Given the description of an element on the screen output the (x, y) to click on. 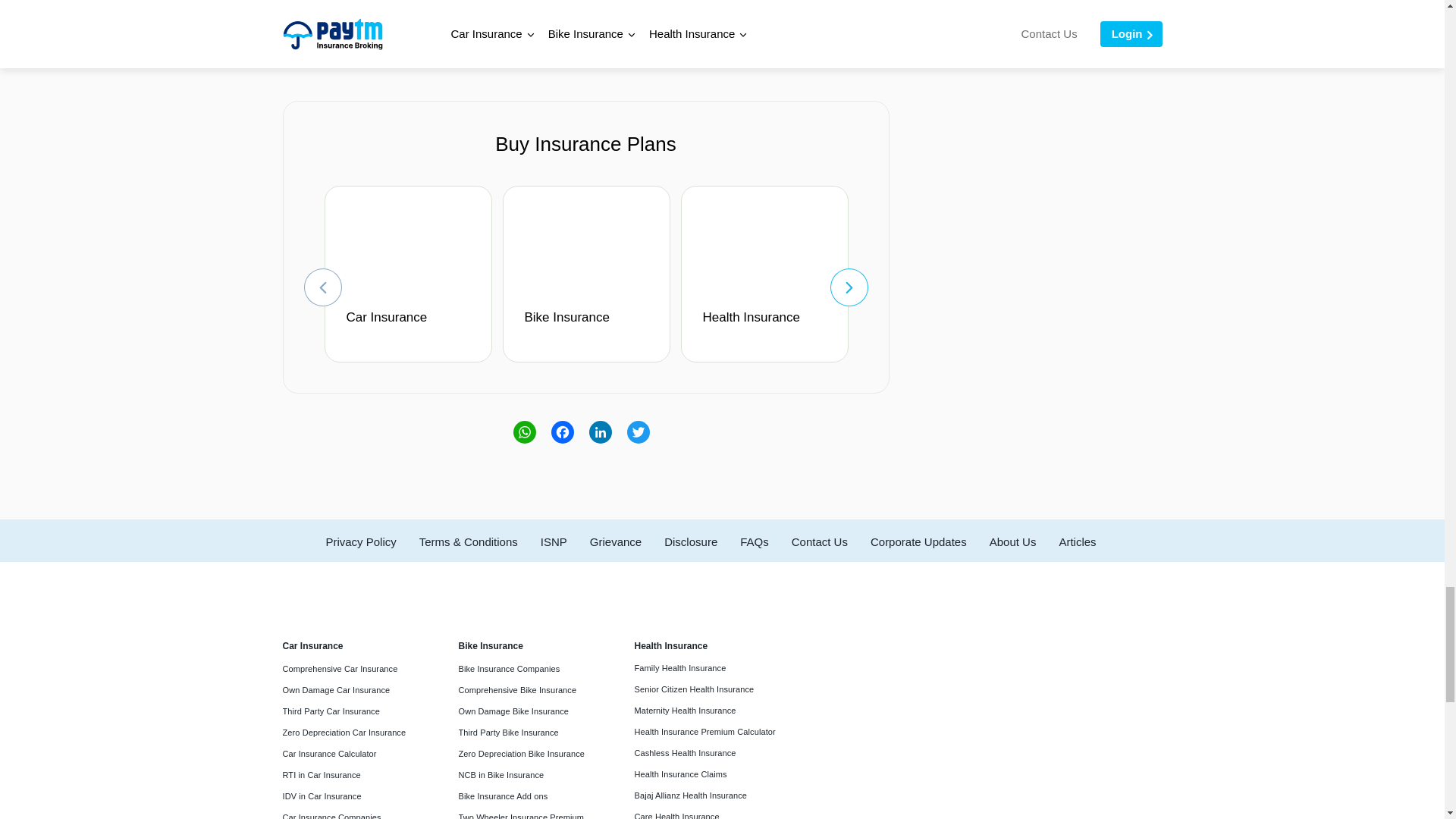
Health Insurance (767, 326)
Bike Insurance (591, 326)
Car Insurance (412, 326)
